Given the description of an element on the screen output the (x, y) to click on. 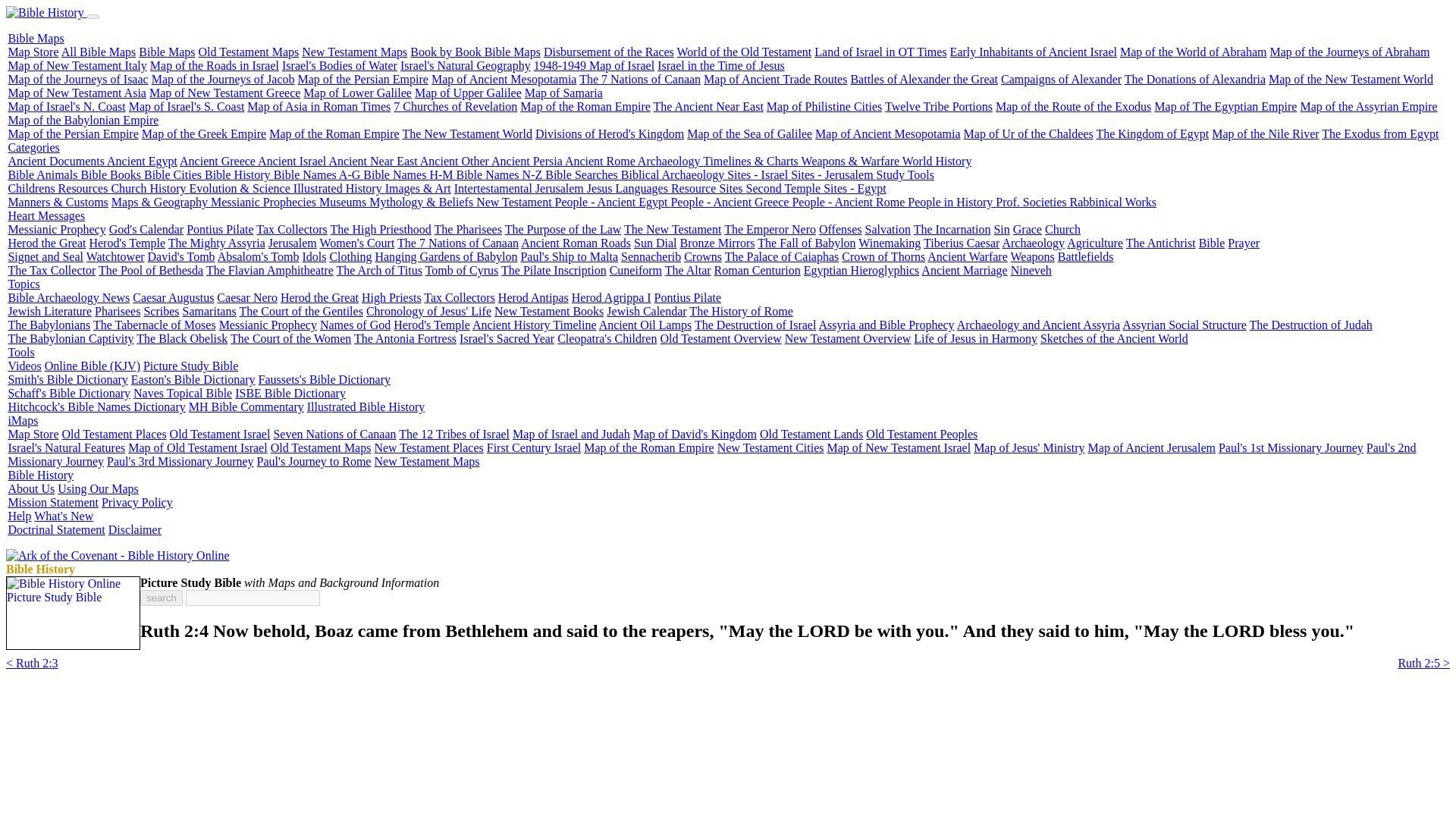
Disbursement of the Races (608, 51)
Old Testament Maps (248, 51)
Map of the Journeys of Isaac (77, 78)
The 7 Nations of Canaan (639, 78)
Book by Book Bible Maps (475, 51)
Israel's Natural Geography (465, 65)
Map of the World of Abraham (1192, 51)
search (161, 597)
Early Inhabitants of Ancient Israel (1033, 51)
Israel in the Time of Jesus (721, 65)
Battles of Alexander the Great (923, 78)
Campaigns of Alexander (1061, 78)
Land of Israel in OT Times (879, 51)
Israel's Bodies of Water (339, 65)
All Bible Maps (98, 51)
